Given the description of an element on the screen output the (x, y) to click on. 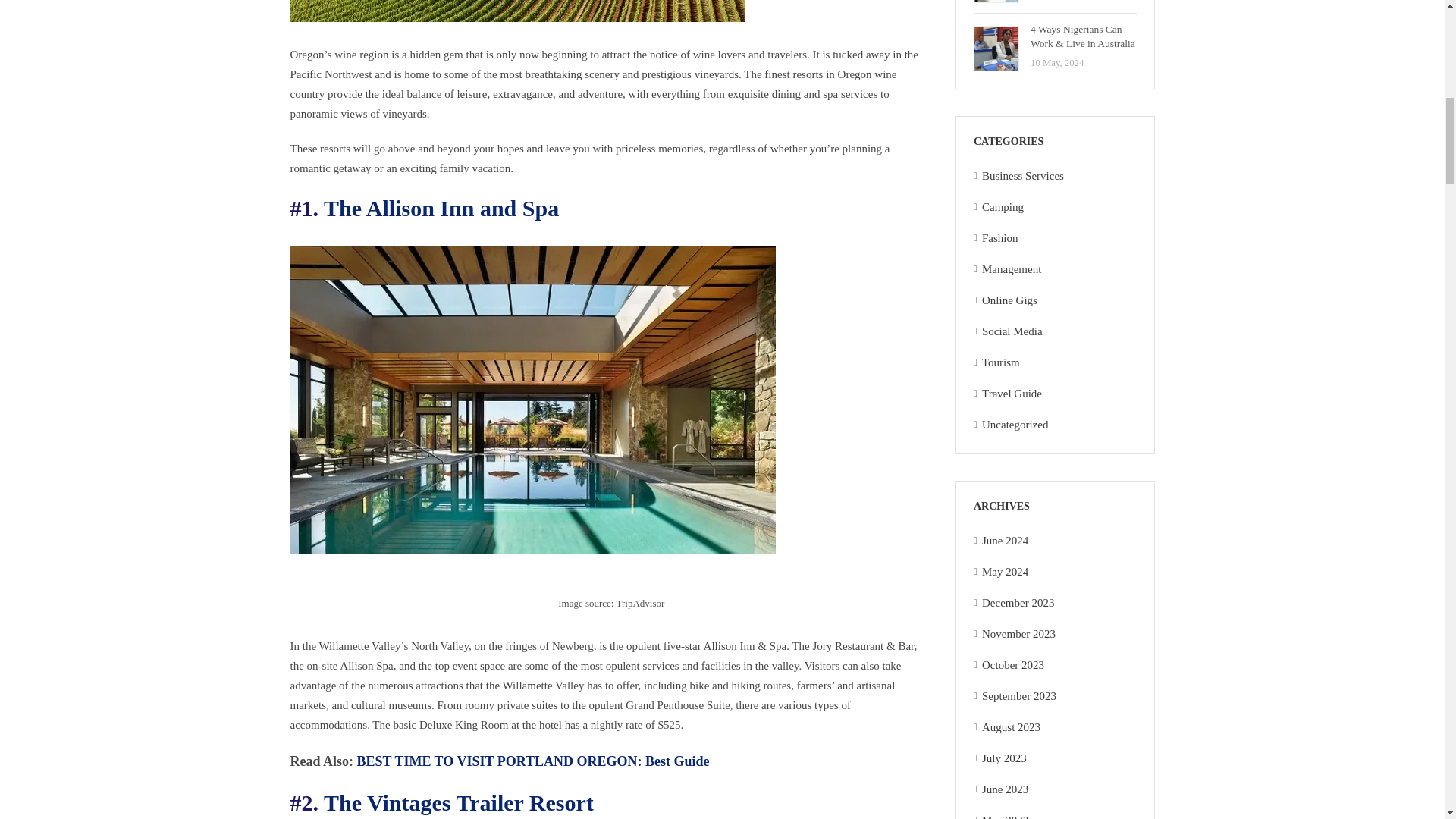
The Vintages Trailer Resort (458, 802)
The Allison Inn and Spa (441, 207)
BEST TIME TO VISIT PORTLAND OREGON: Best Guide (533, 761)
